Given the description of an element on the screen output the (x, y) to click on. 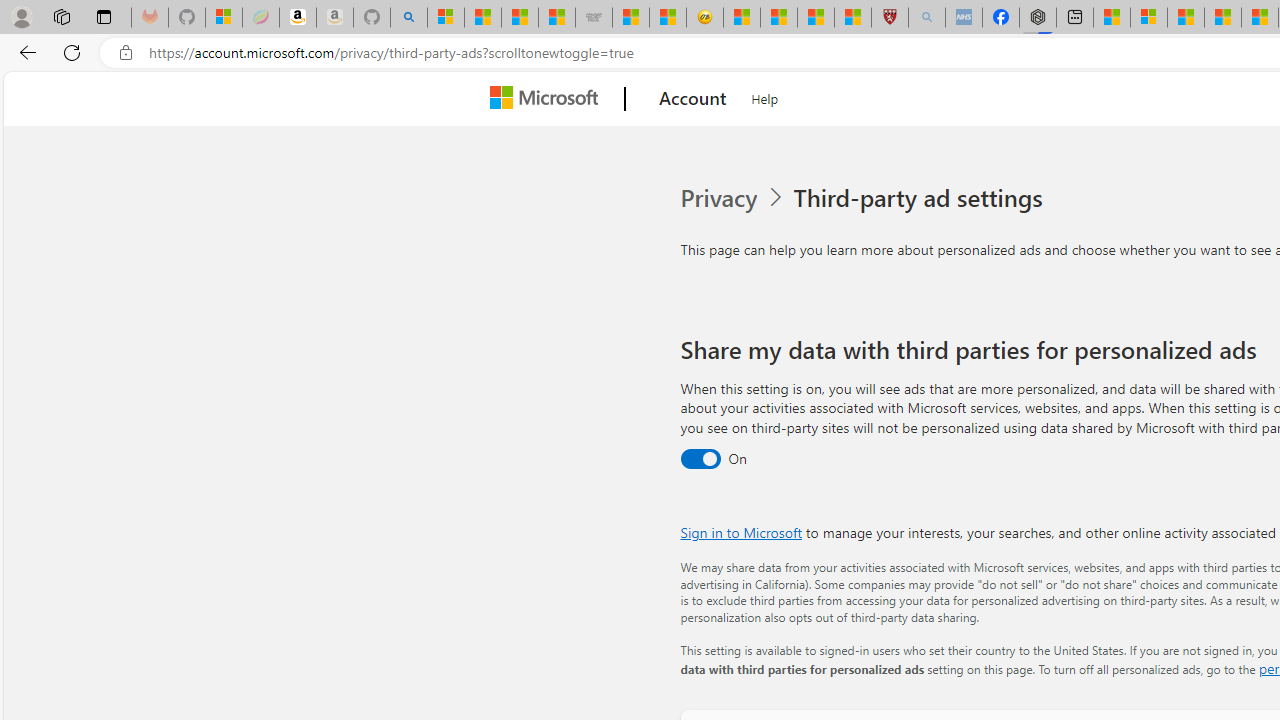
Help (765, 96)
Stocks - MSN (556, 17)
Third party data sharing toggle (699, 459)
Recipes - MSN (742, 17)
Combat Siege (593, 17)
Robert H. Shmerling, MD - Harvard Health (889, 17)
